Given the description of an element on the screen output the (x, y) to click on. 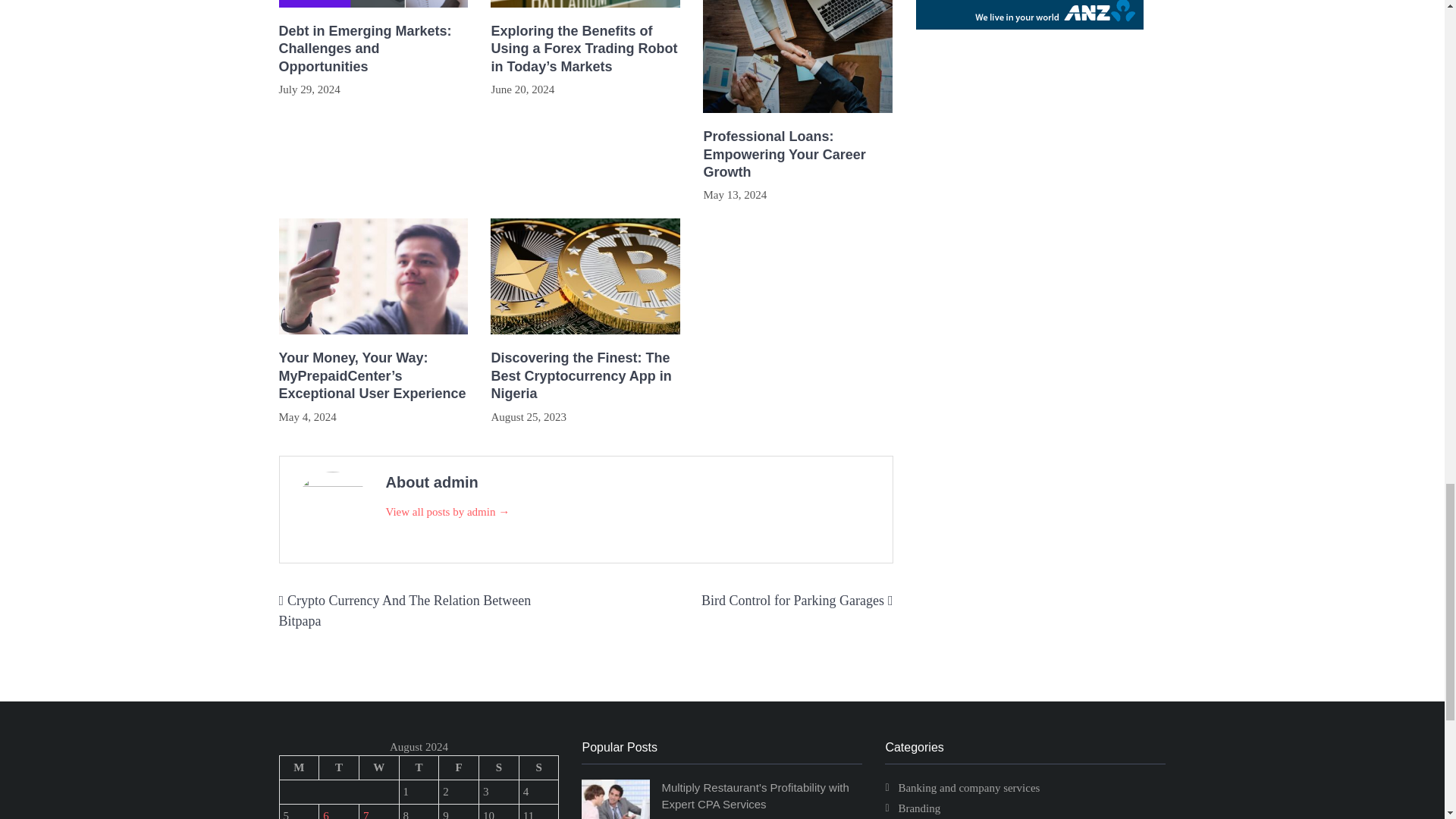
Wednesday (378, 767)
Debt in Emerging Markets: Challenges and Opportunities (373, 49)
Tuesday (338, 767)
Thursday (418, 767)
Professional Loans: Empowering Your Career Growth (797, 153)
Crypto Currency And The Relation Between Bitpapa (405, 610)
Monday (298, 767)
Friday (459, 767)
Bird Control for Parking Garages (792, 600)
